Given the description of an element on the screen output the (x, y) to click on. 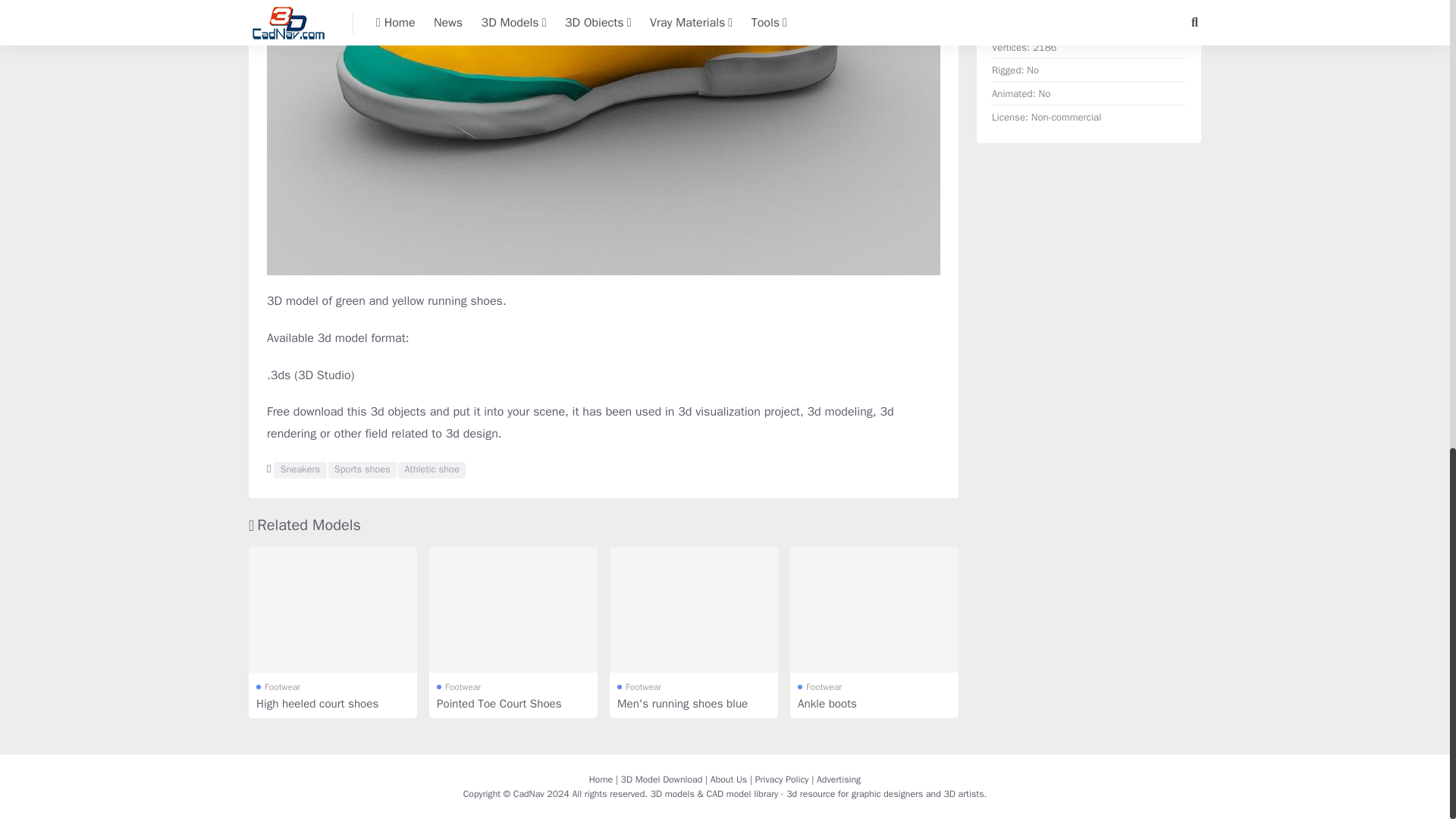
Ankle boots 3d model download (874, 610)
High heeled court shoes 3d model download (332, 610)
Sneakers 3d model (299, 469)
Athletic shoe 3d model (431, 469)
Sports shoes 3d model (363, 469)
Pointed Toe Court Shoes 3d model download (512, 610)
Men's running shoes blue 3d model download (693, 610)
